Given the description of an element on the screen output the (x, y) to click on. 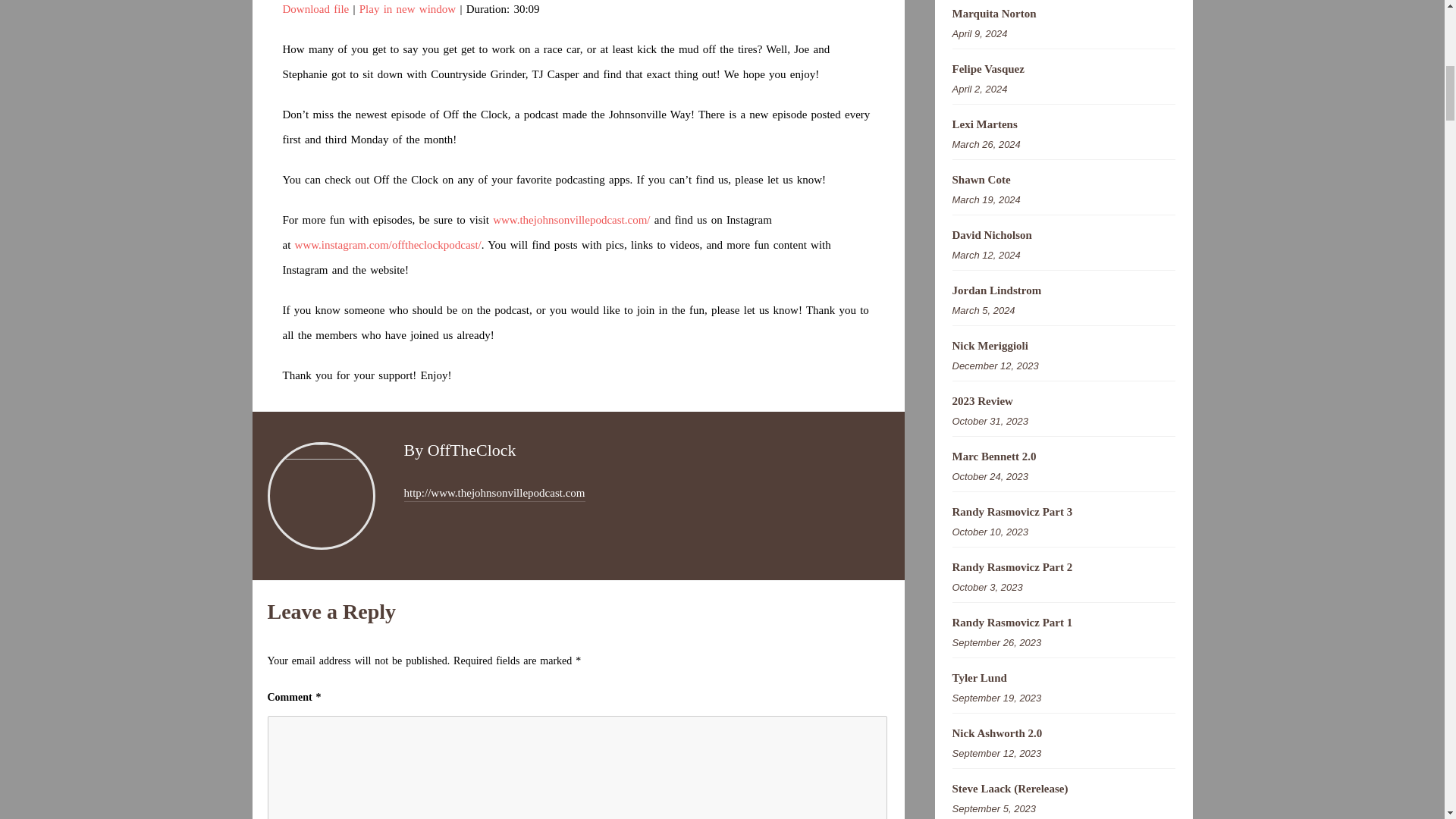
Marc Bennett 2.0 (1063, 456)
Nick Meriggioli (1063, 345)
Lexi Martens (1063, 124)
Randy Rasmovicz Part 2 (1063, 567)
Marquita Norton (1063, 13)
Download file (315, 9)
Jordan Lindstrom (1063, 290)
Randy Rasmovicz Part 3 (1063, 511)
By OffTheClock (459, 449)
Play in new window (407, 9)
David Nicholson (1063, 235)
Shawn Cote (1063, 179)
2023 Review (1063, 401)
Felipe Vasquez (1063, 68)
